Given the description of an element on the screen output the (x, y) to click on. 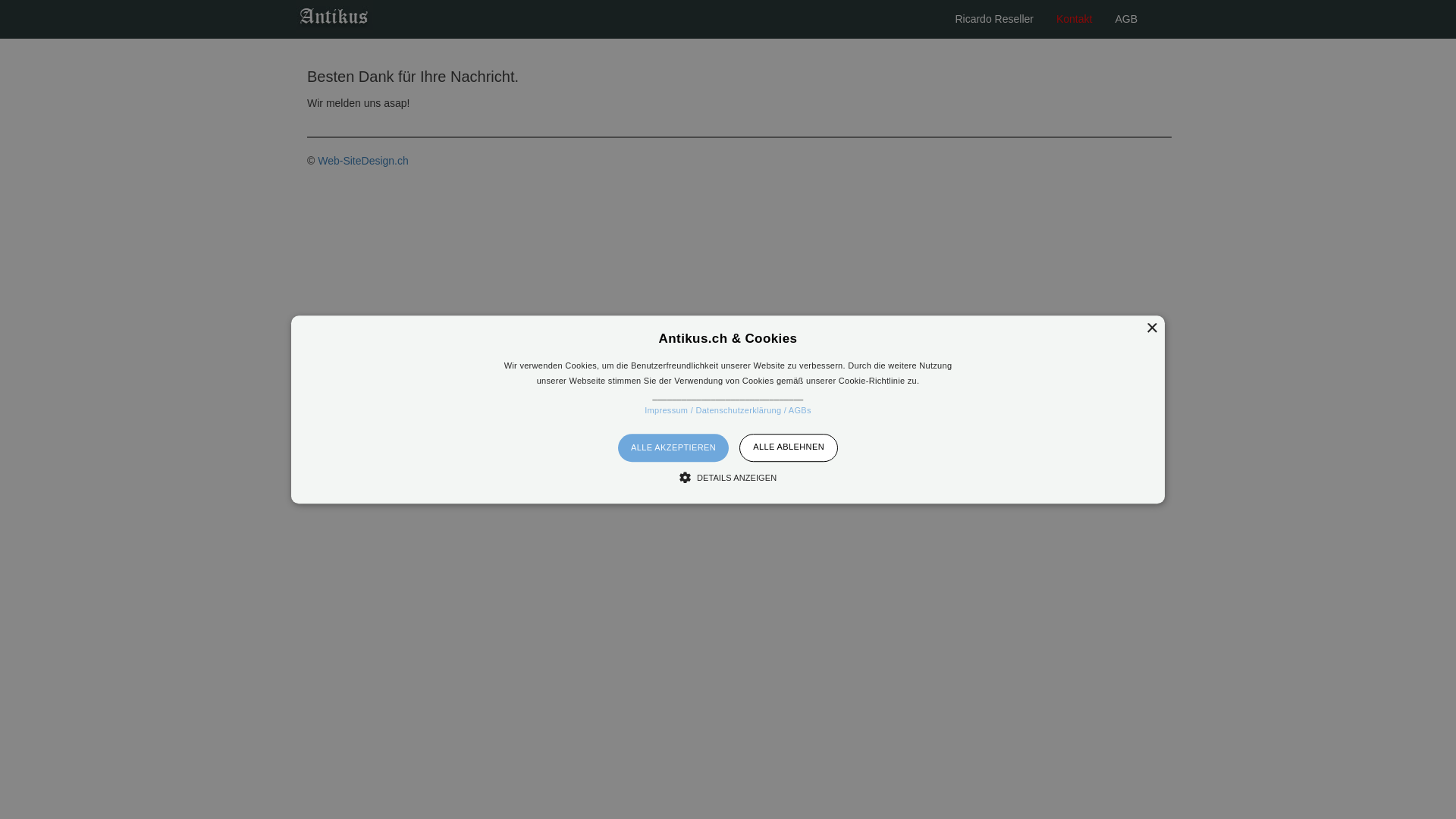
Web-SiteDesign.ch Element type: text (362, 160)
Ricardo Reseller Element type: text (993, 18)
Kontakt Element type: text (1073, 18)
AGB Element type: text (1125, 18)
